Given the description of an element on the screen output the (x, y) to click on. 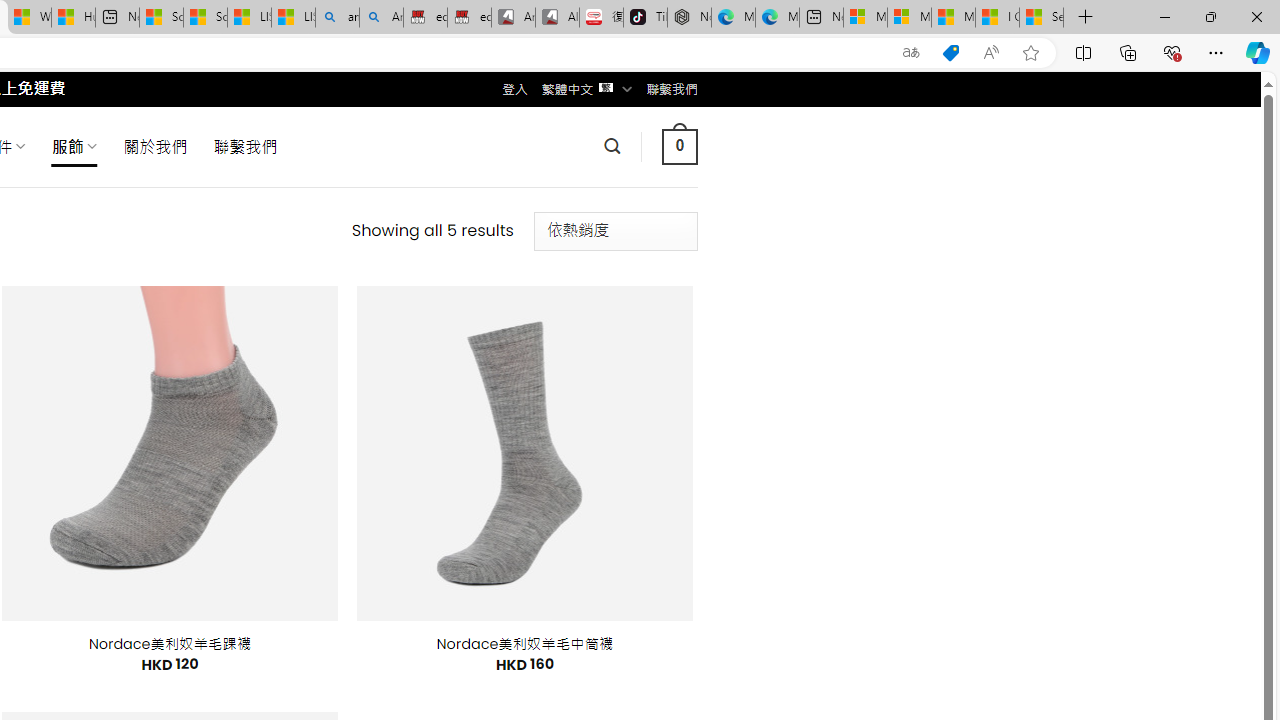
This site has coupons! Shopping in Microsoft Edge (950, 53)
 0  (679, 146)
TikTok (644, 17)
